Given the description of an element on the screen output the (x, y) to click on. 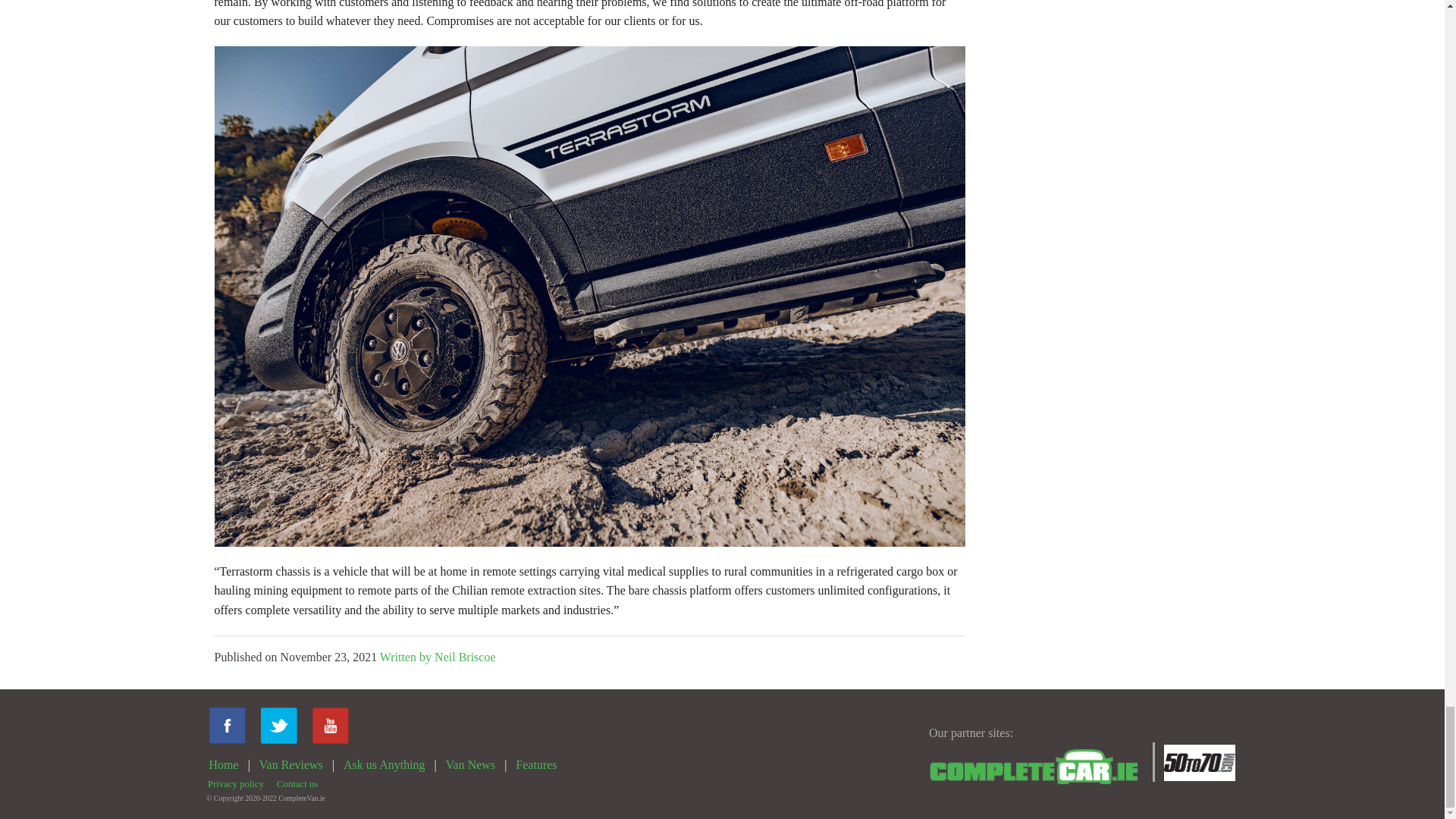
Ask us Anything (384, 764)
CompleteCar.ie (1035, 767)
Privacy policy (235, 783)
Contact us (296, 783)
Features (535, 764)
50to70.com (1199, 762)
Van Reviews (291, 764)
Van News (470, 764)
Home (223, 764)
